Given the description of an element on the screen output the (x, y) to click on. 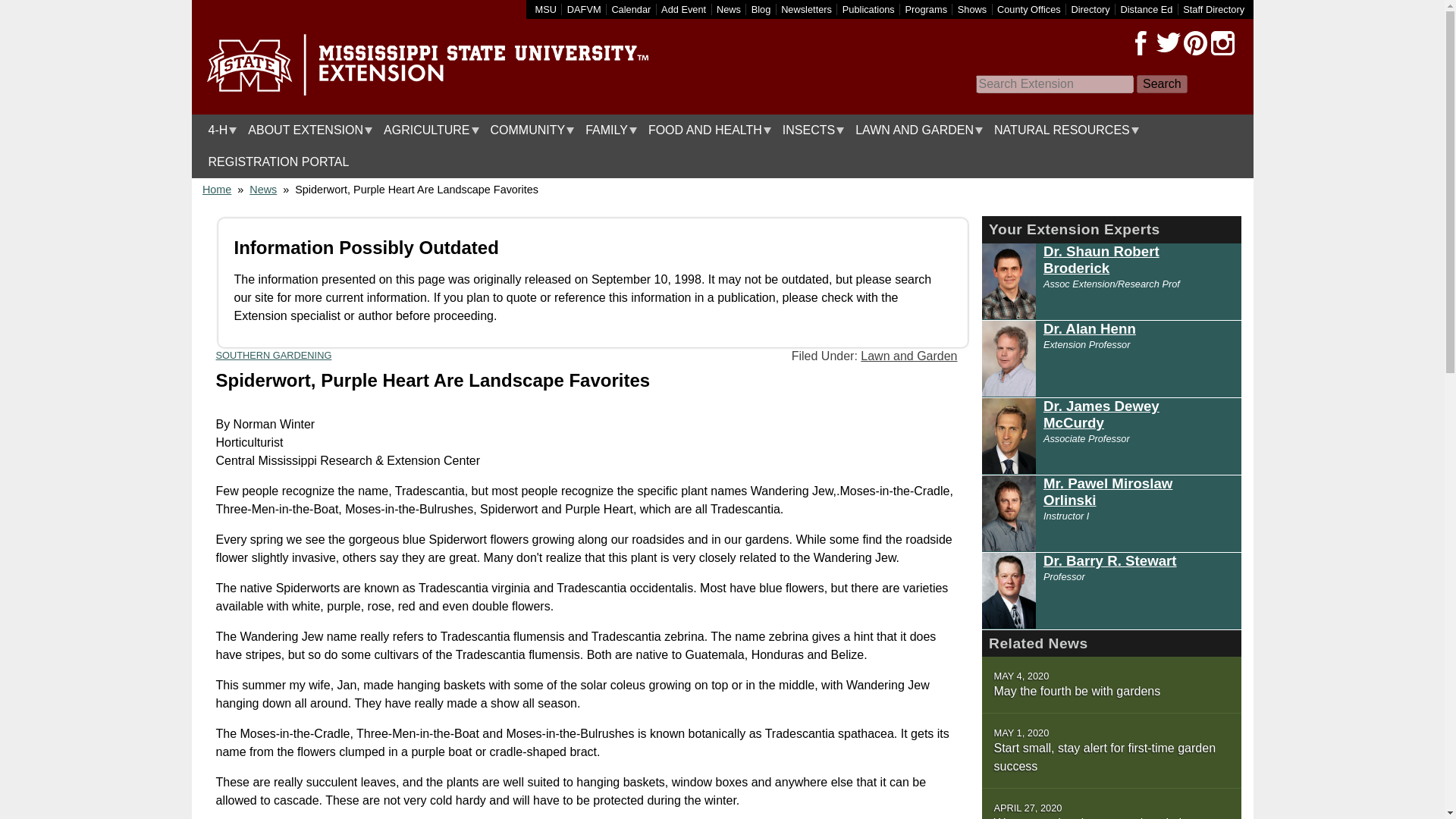
Programs (926, 9)
Link to Mississippi State University (545, 9)
Find a county extension office (1029, 9)
Facebook (1140, 43)
Add Event (683, 9)
County Offices (1029, 9)
Distance Ed (1145, 9)
Directory (1089, 9)
Instagram (1221, 43)
Staff Directory (1213, 9)
Twitter (1167, 43)
Blog (761, 9)
The main event calendar for the MSU Extension Service (630, 9)
Newsletters (805, 9)
